Given the description of an element on the screen output the (x, y) to click on. 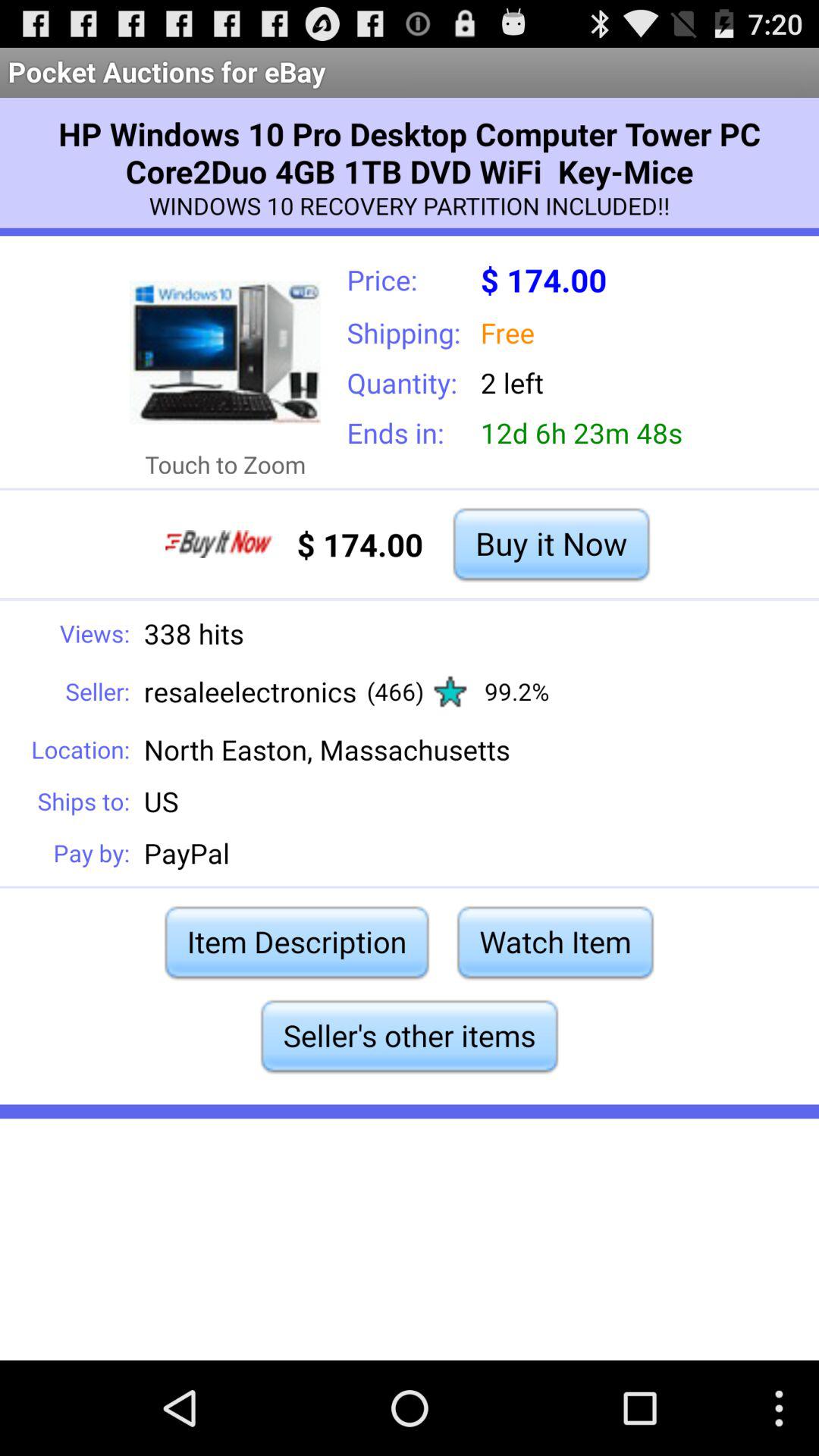
turn off the watch item icon (555, 942)
